Given the description of an element on the screen output the (x, y) to click on. 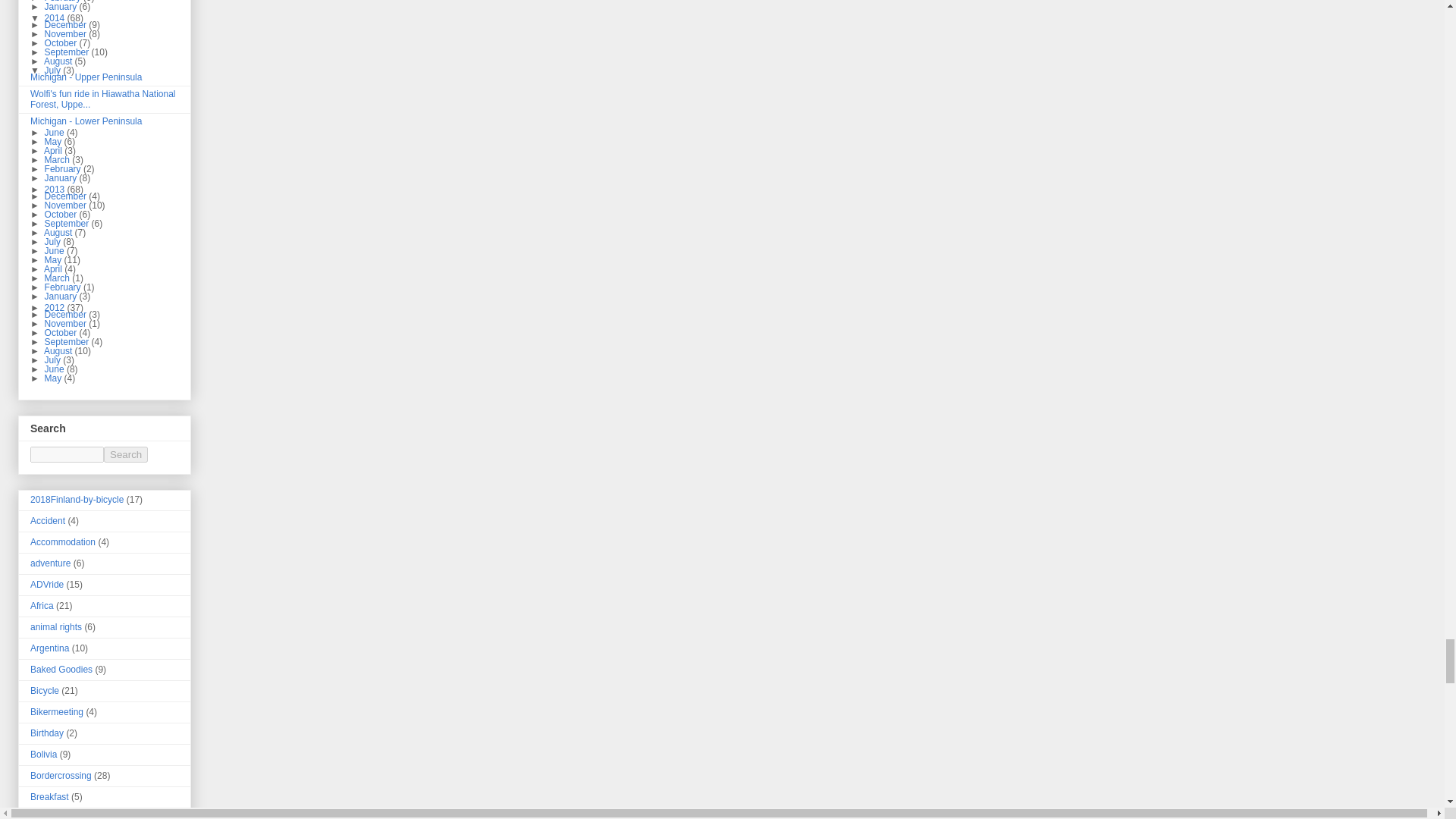
search (66, 454)
Search (125, 454)
search (125, 454)
Search (125, 454)
